Given the description of an element on the screen output the (x, y) to click on. 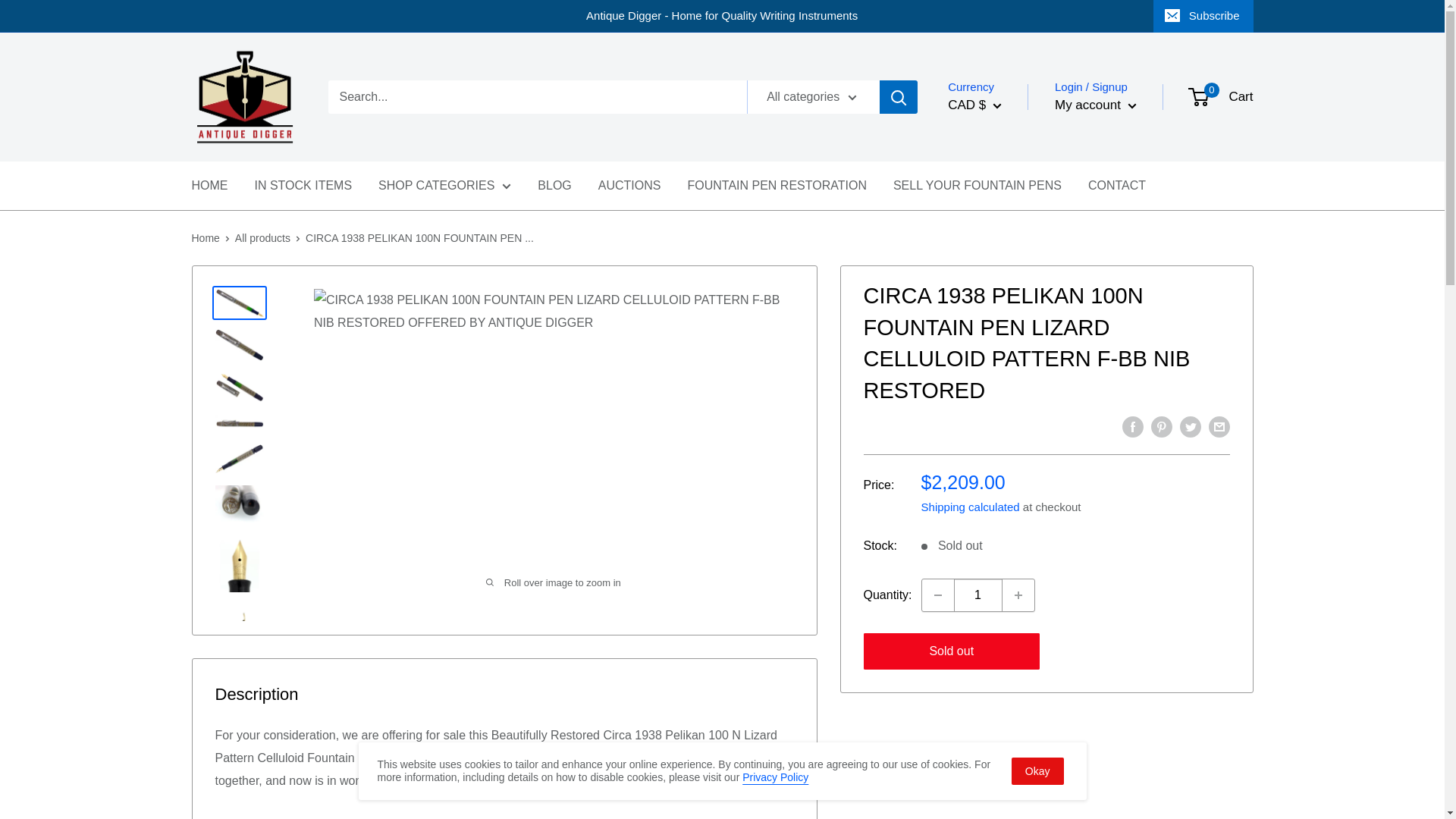
1 (978, 594)
Increase quantity by 1 (1018, 594)
Subscribe (1203, 15)
Privacy Policy (775, 776)
Decrease quantity by 1 (937, 594)
